Given the description of an element on the screen output the (x, y) to click on. 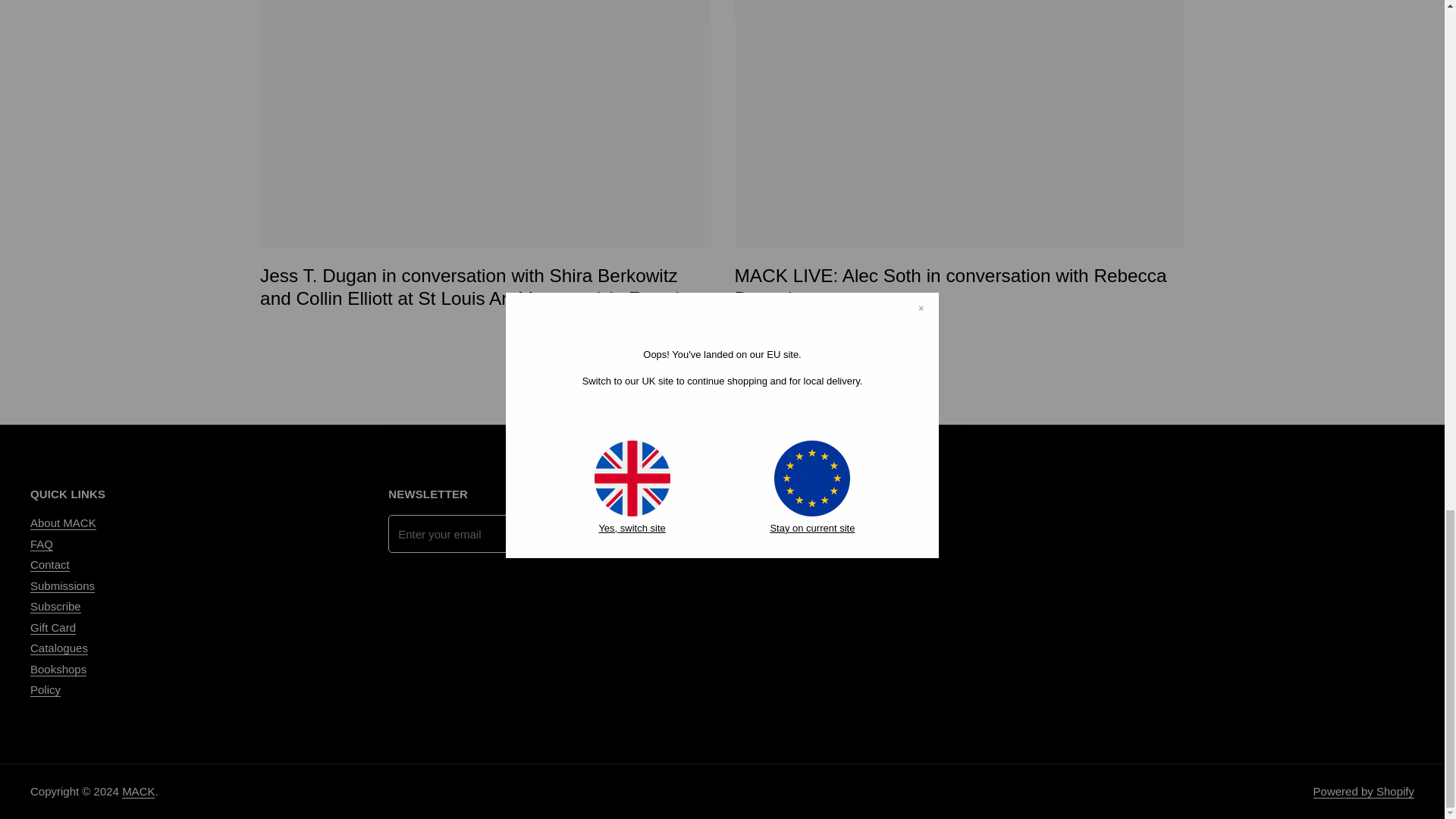
MACK LIVE: Alec Soth in conversation with Rebecca Bengal (949, 289)
MACK LIVE: Alec Soth in conversation with Rebecca Bengal (958, 123)
